Given the description of an element on the screen output the (x, y) to click on. 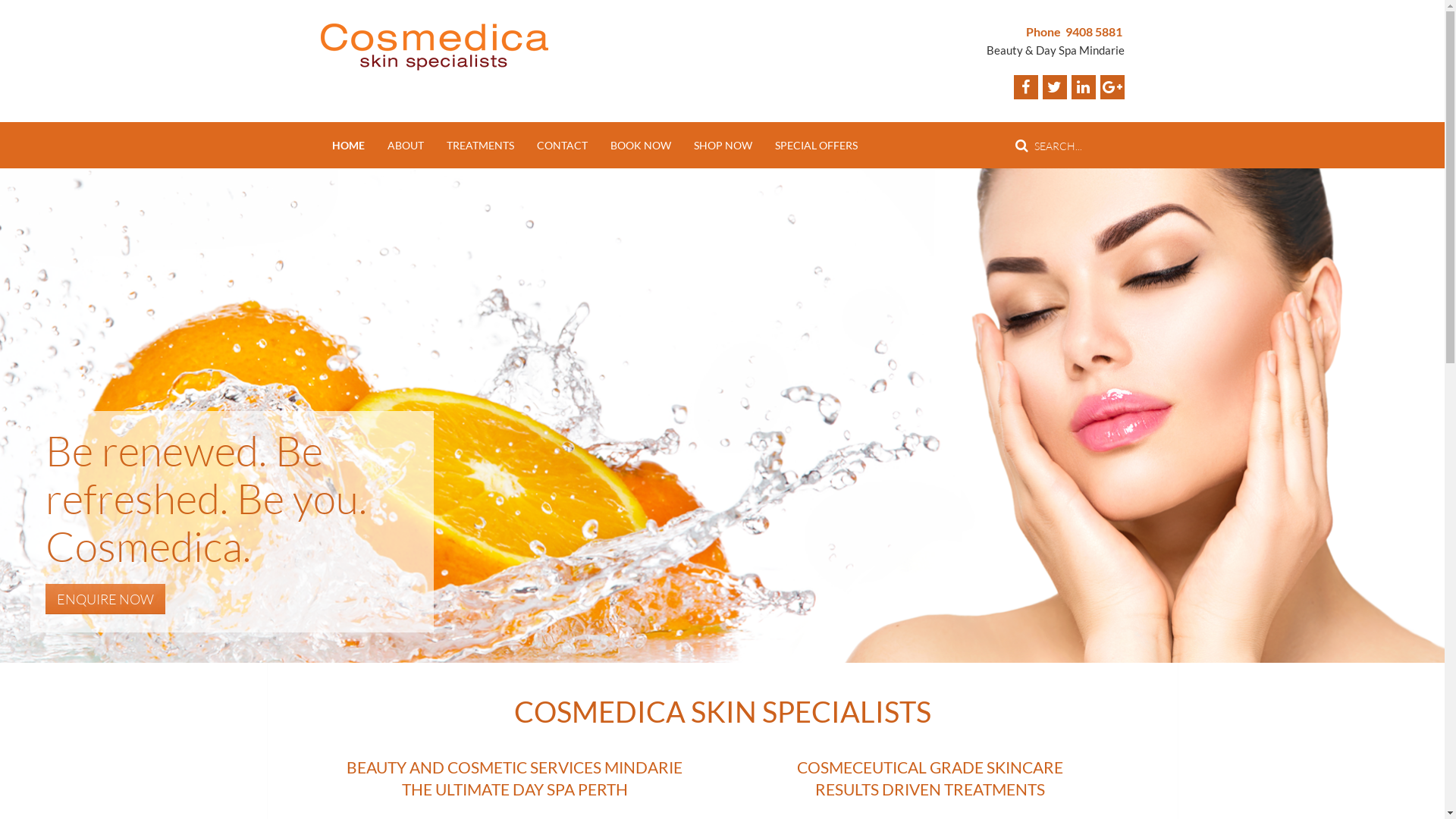
TREATMENTS Element type: text (480, 145)
ABOUT Element type: text (405, 145)
HOME Element type: text (347, 145)
ENQUIRE NOW Element type: text (105, 598)
Beauty & Day Spa Mindarie Element type: text (1054, 49)
BOOK NOW Element type: text (640, 145)
SHOP NOW Element type: text (722, 145)
SPECIAL OFFERS Element type: text (815, 145)
CONTACT Element type: text (561, 145)
